Given the description of an element on the screen output the (x, y) to click on. 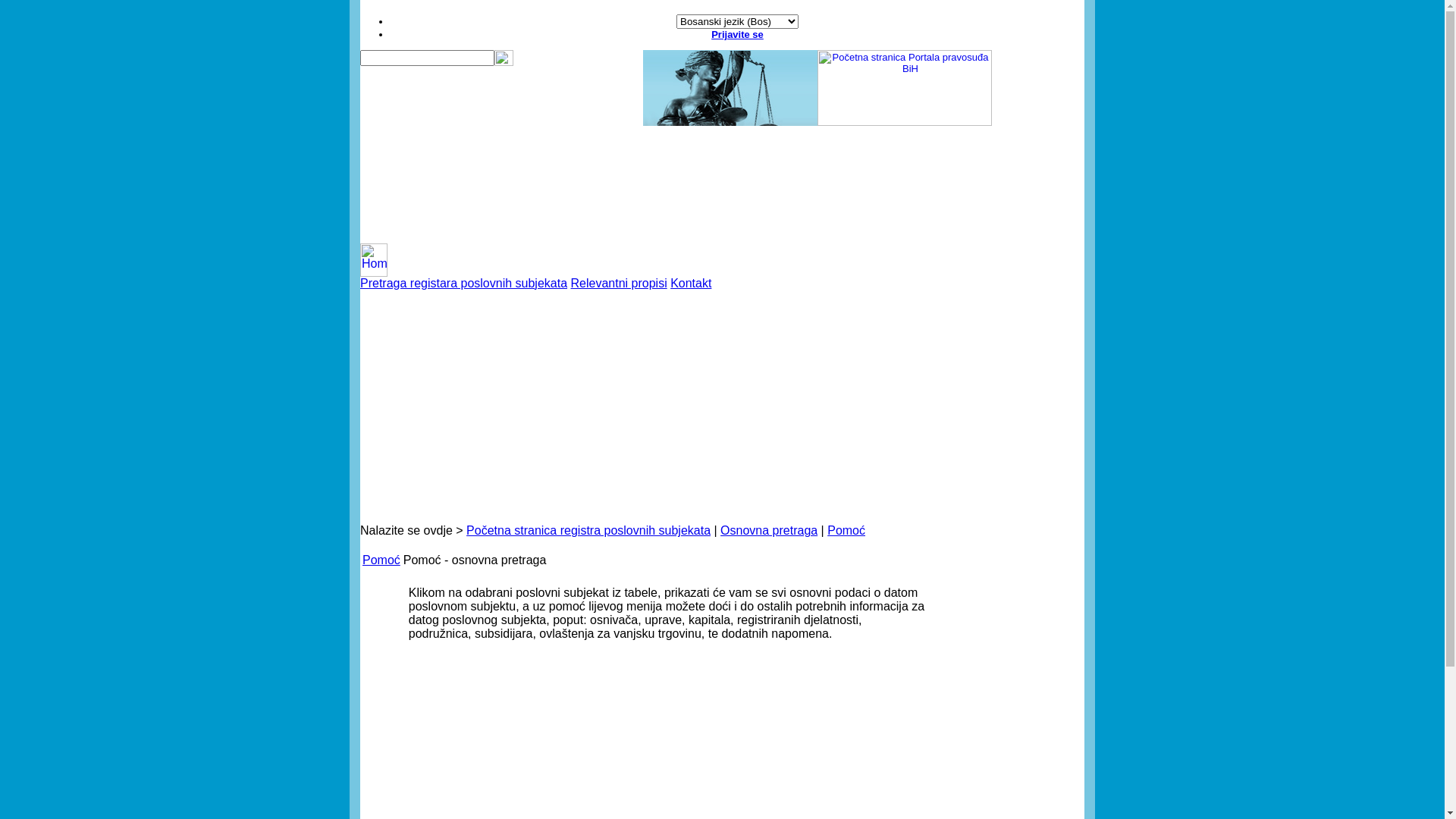
Kontakt Element type: text (690, 282)
Prijavite se Element type: text (737, 34)
Relevantni propisi Element type: text (618, 282)
Osnovna pretraga Element type: text (768, 530)
Pretraga registara poslovnih subjekata Element type: text (463, 282)
